Given the description of an element on the screen output the (x, y) to click on. 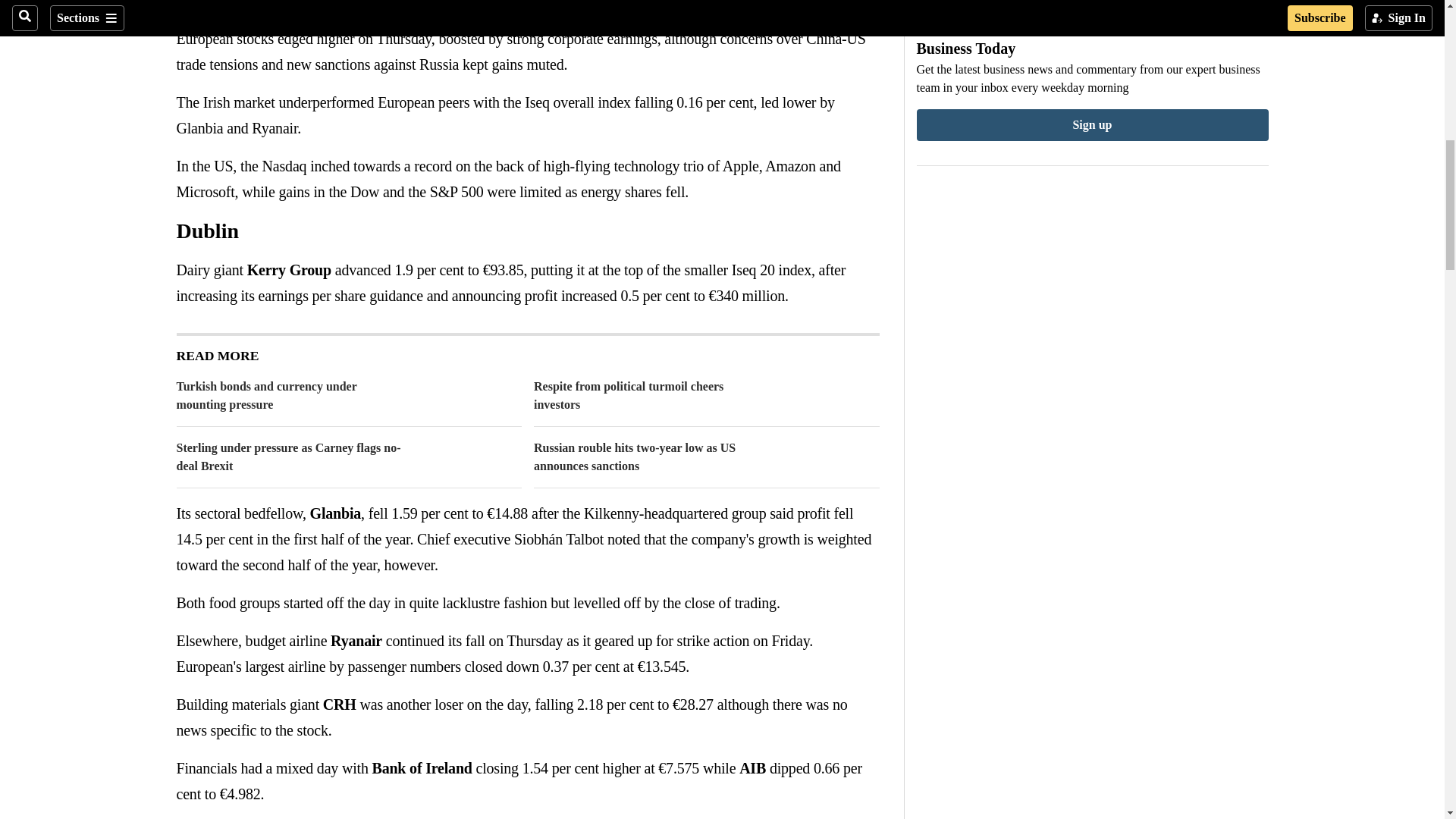
Facebook (184, 6)
X (215, 6)
WhatsApp (244, 6)
